Given the description of an element on the screen output the (x, y) to click on. 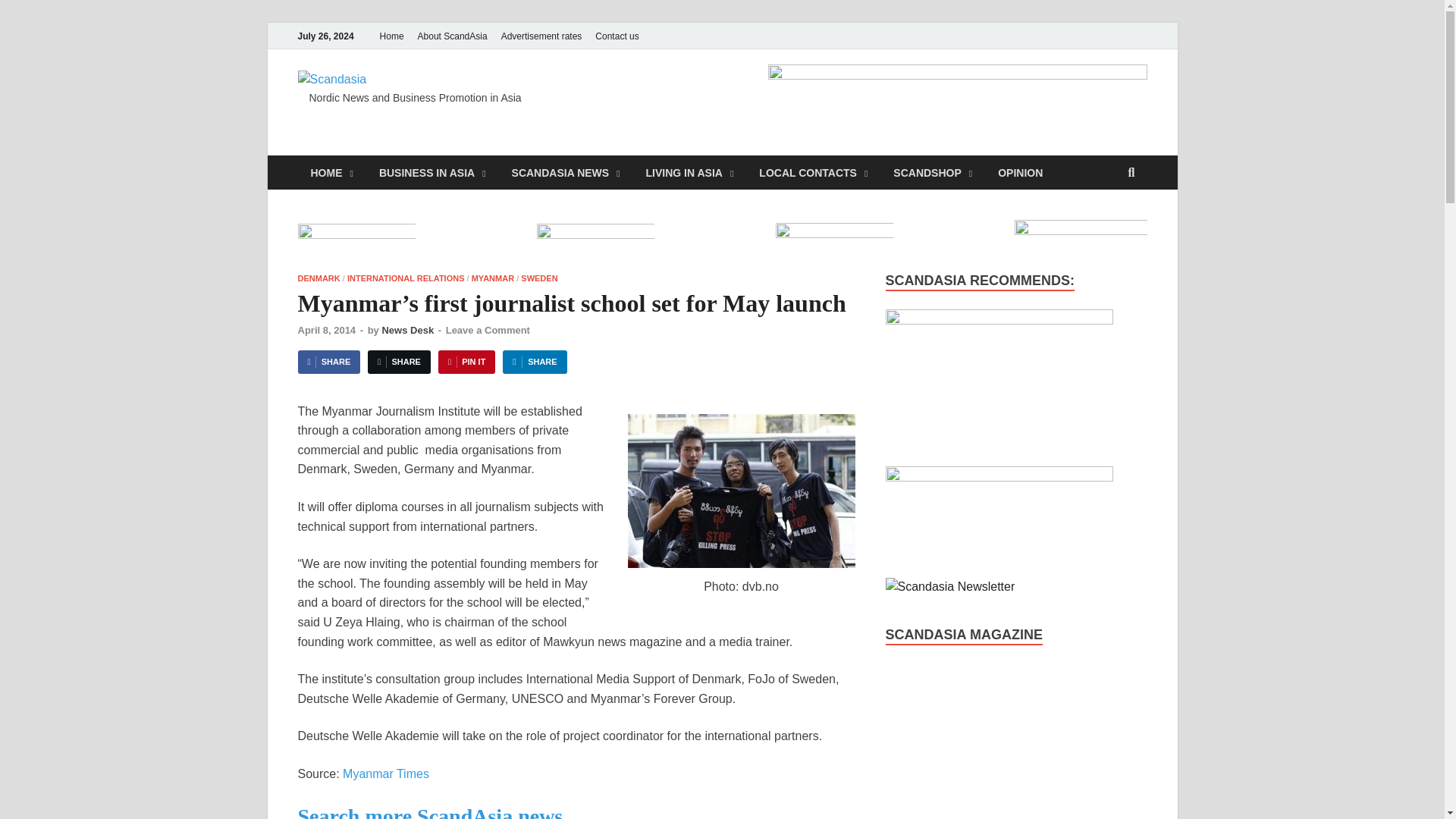
HOME (331, 172)
Advertisement rates (542, 35)
Contact us (616, 35)
BUSINESS IN ASIA (432, 172)
About ScandAsia (452, 35)
Home (391, 35)
